Given the description of an element on the screen output the (x, y) to click on. 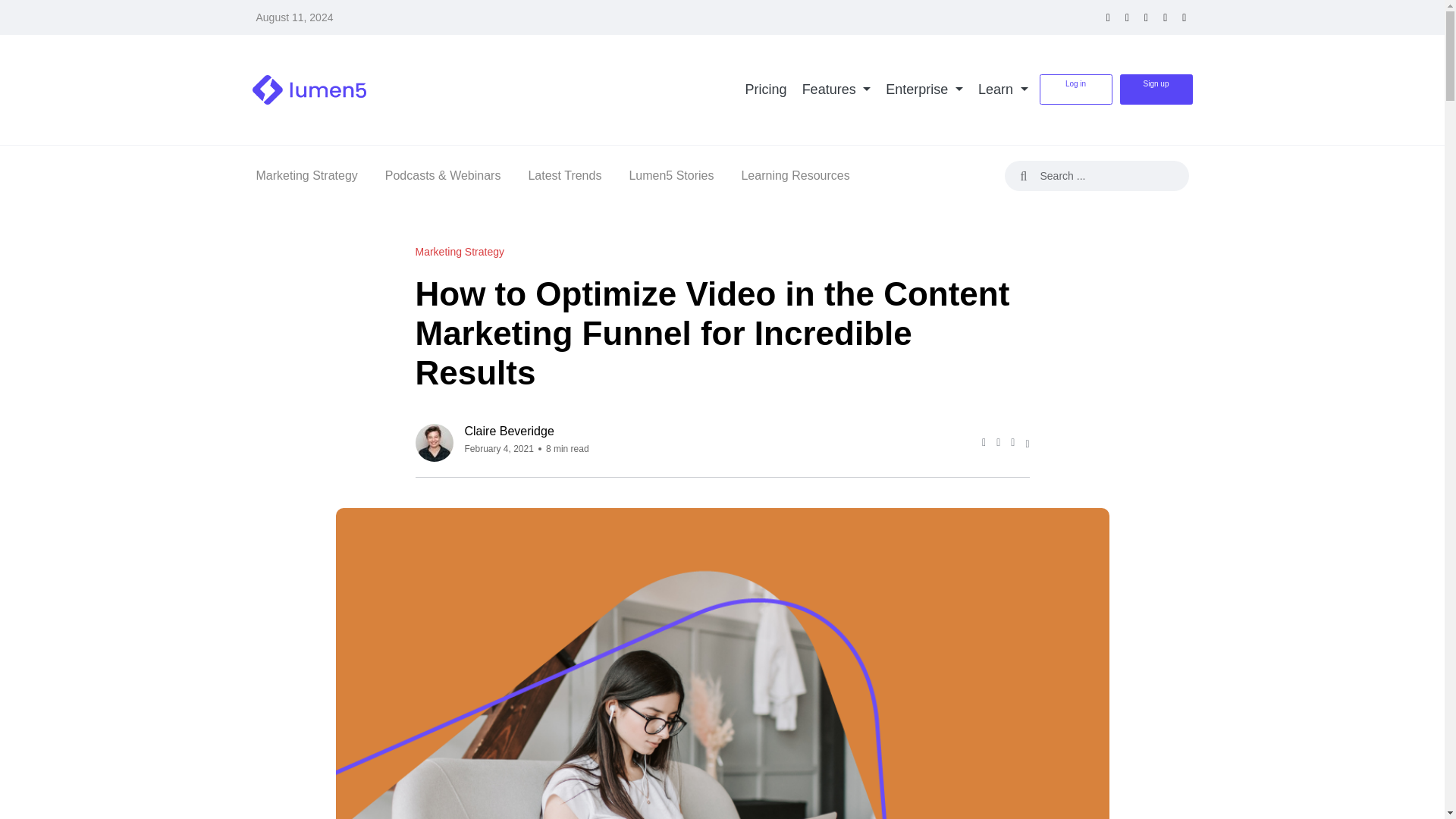
Pricing (765, 89)
Enterprise (924, 89)
Claire Beveridge (526, 431)
Sign up (1155, 89)
Latest Trends (564, 175)
Learn (1003, 89)
Marketing Strategy (460, 251)
Marketing Strategy (307, 175)
Lumen5 Stories (670, 175)
Log in (1075, 89)
